Given the description of an element on the screen output the (x, y) to click on. 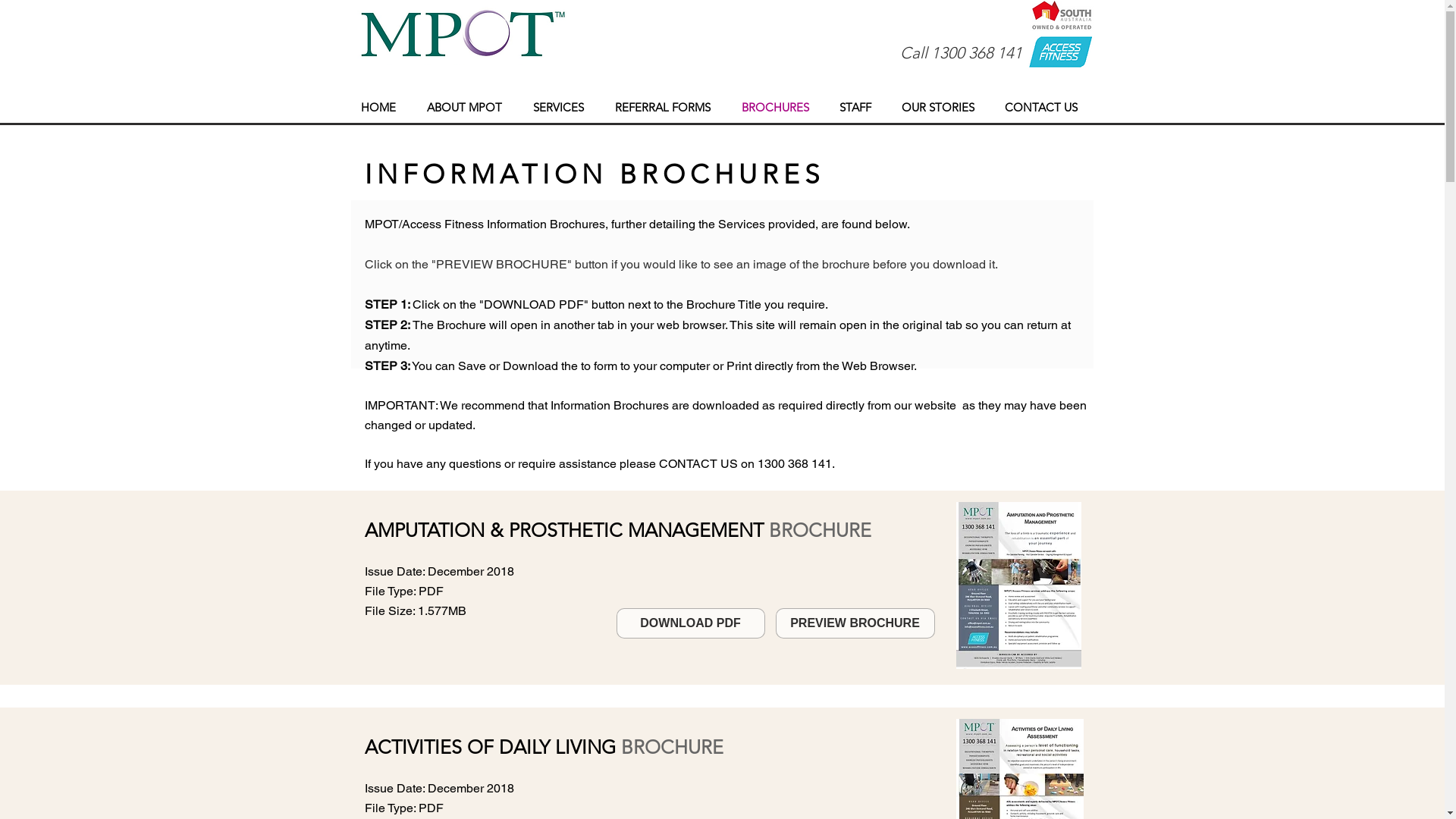
PREVIEW BROCHURE Element type: text (854, 623)
DOWNLOAD PDF Element type: text (689, 623)
STAFF Element type: text (859, 107)
CONTACT US Element type: text (1044, 107)
ABOUT MPOT Element type: text (468, 107)
HOME Element type: text (381, 107)
BROCHURES Element type: text (778, 107)
REFERRAL FORMS Element type: text (666, 107)
Call 1300 368 141 Element type: text (960, 52)
SERVICES Element type: text (562, 107)
OUR STORIES Element type: text (941, 107)
